Given the description of an element on the screen output the (x, y) to click on. 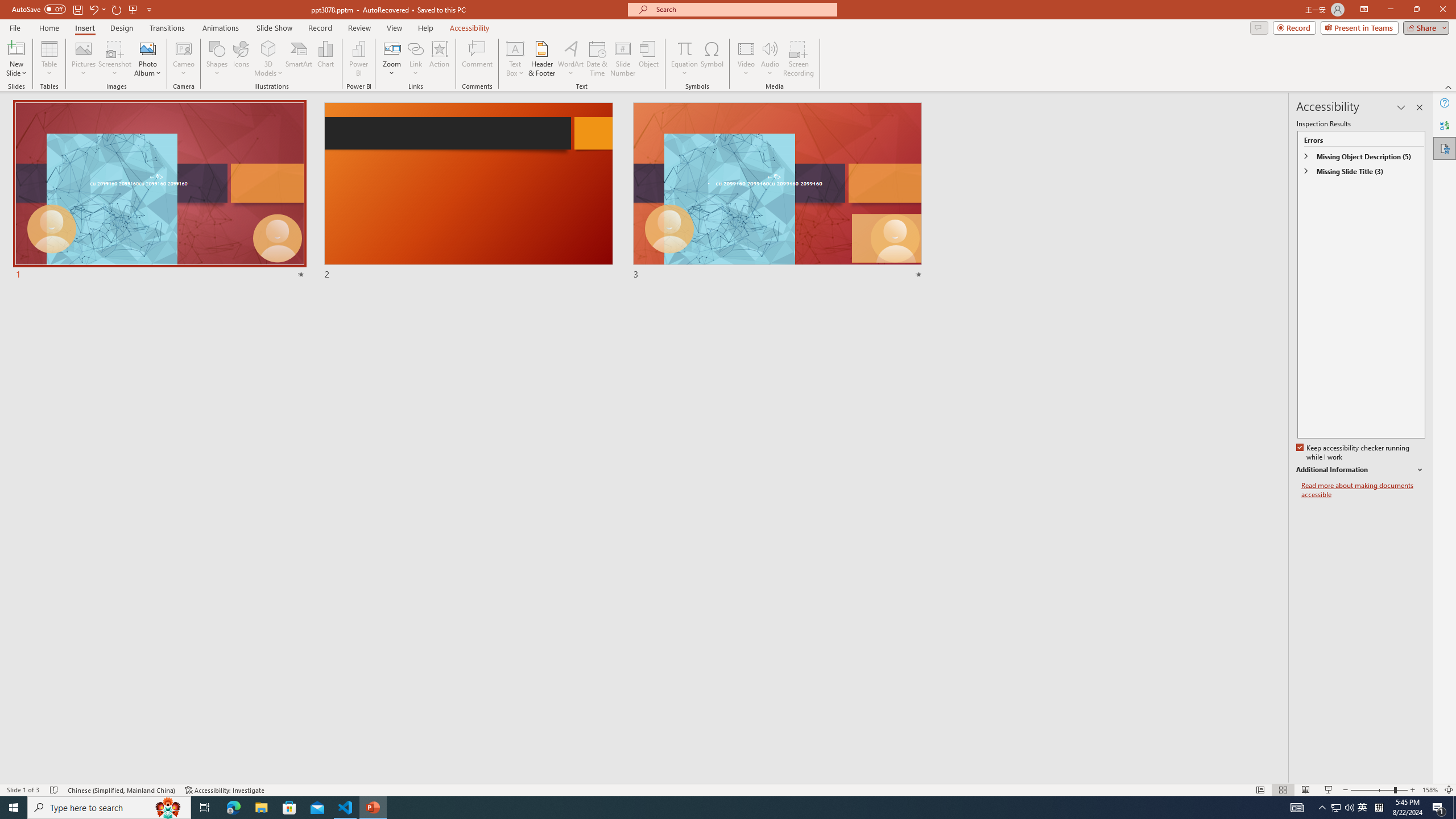
Draw Horizontal Text Box (515, 48)
Header & Footer... (541, 58)
Symbol... (711, 58)
Read more about making documents accessible (1363, 489)
3D Models (268, 58)
